Given the description of an element on the screen output the (x, y) to click on. 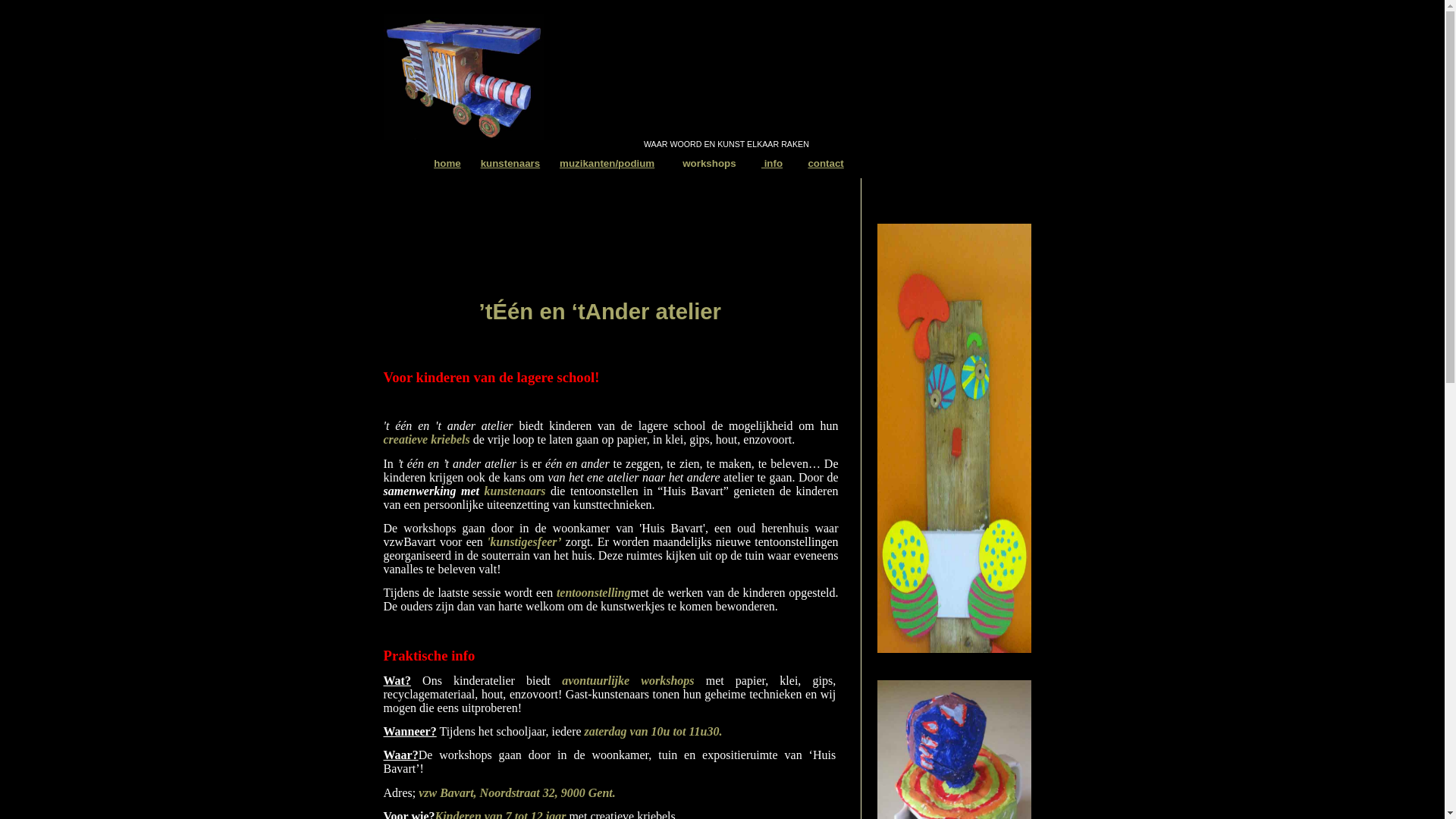
muzikanten/podium Element type: text (606, 163)
home Element type: text (447, 163)
contact Element type: text (825, 163)
info Element type: text (771, 163)
kunstenaars Element type: text (510, 163)
